Given the description of an element on the screen output the (x, y) to click on. 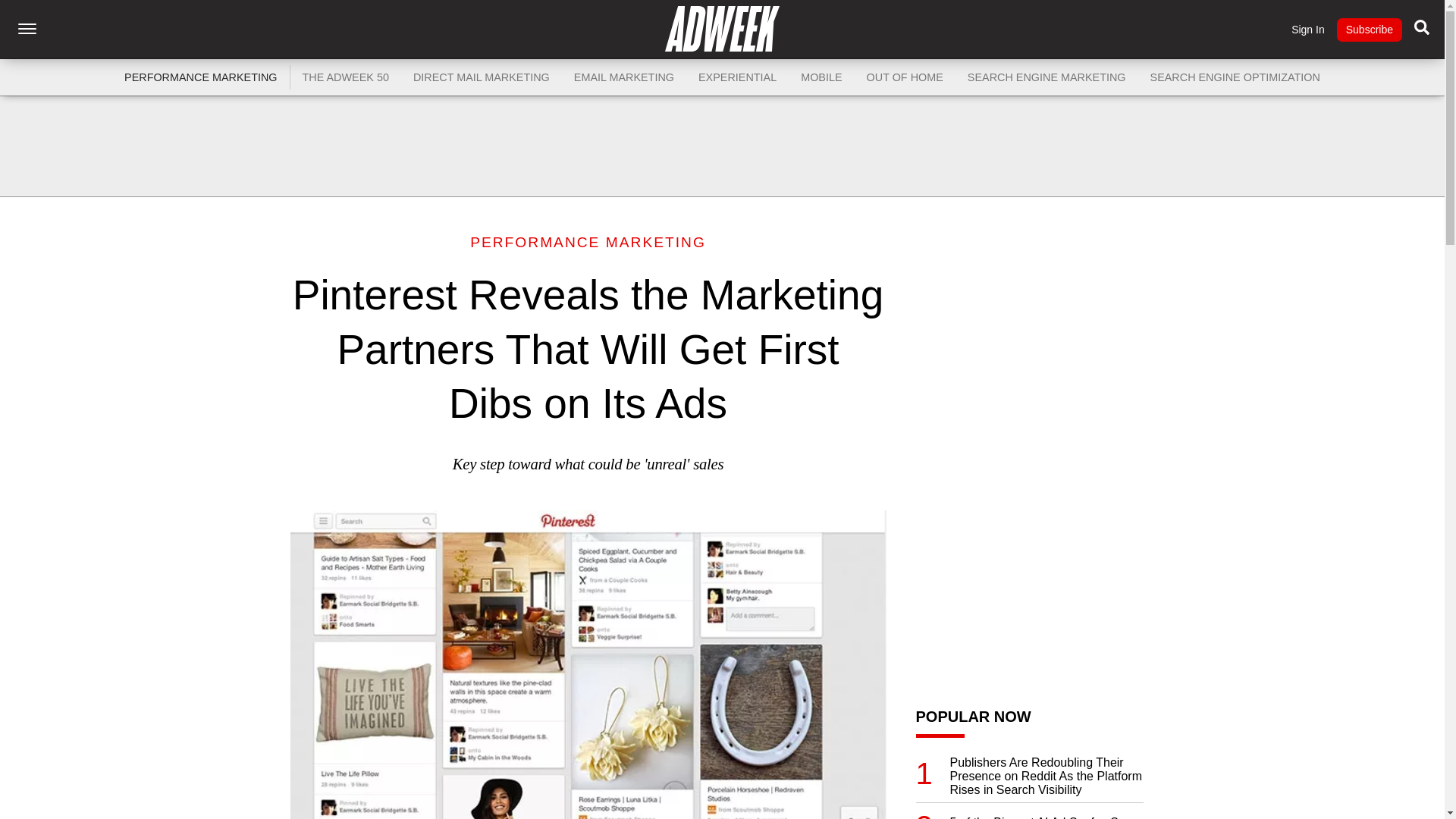
SEARCH ENGINE OPTIMIZATION (1235, 77)
PERFORMANCE MARKETING (200, 77)
DIRECT MAIL MARKETING (481, 77)
Subscribe (1369, 29)
SEARCH ENGINE MARKETING (1046, 77)
THE ADWEEK 50 (345, 77)
Sign In (1307, 29)
Toggle Main Menu (26, 28)
PERFORMANCE MARKETING (588, 242)
EXPERIENTIAL (737, 77)
